Given the description of an element on the screen output the (x, y) to click on. 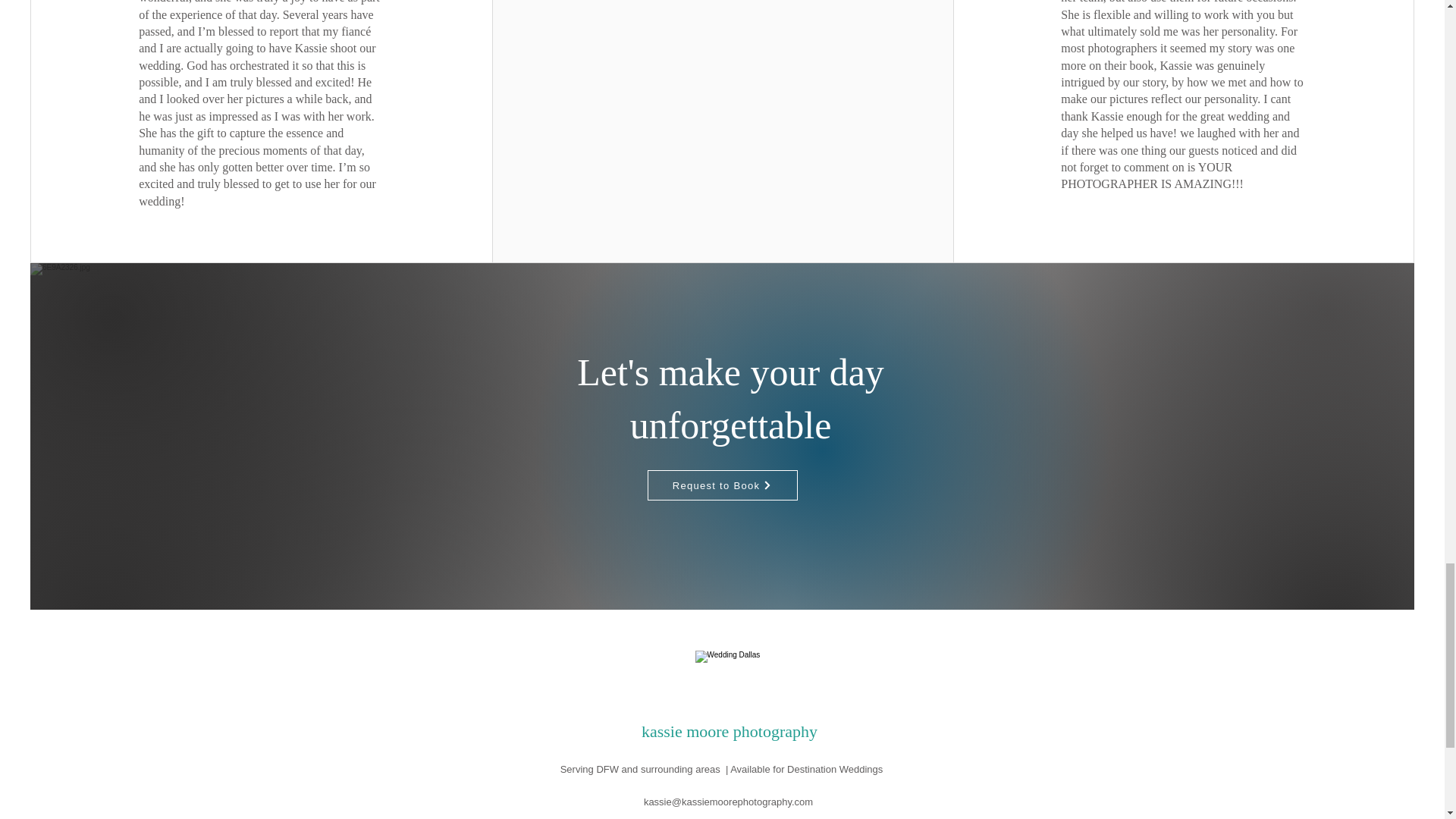
Request to Book (722, 485)
